Given the description of an element on the screen output the (x, y) to click on. 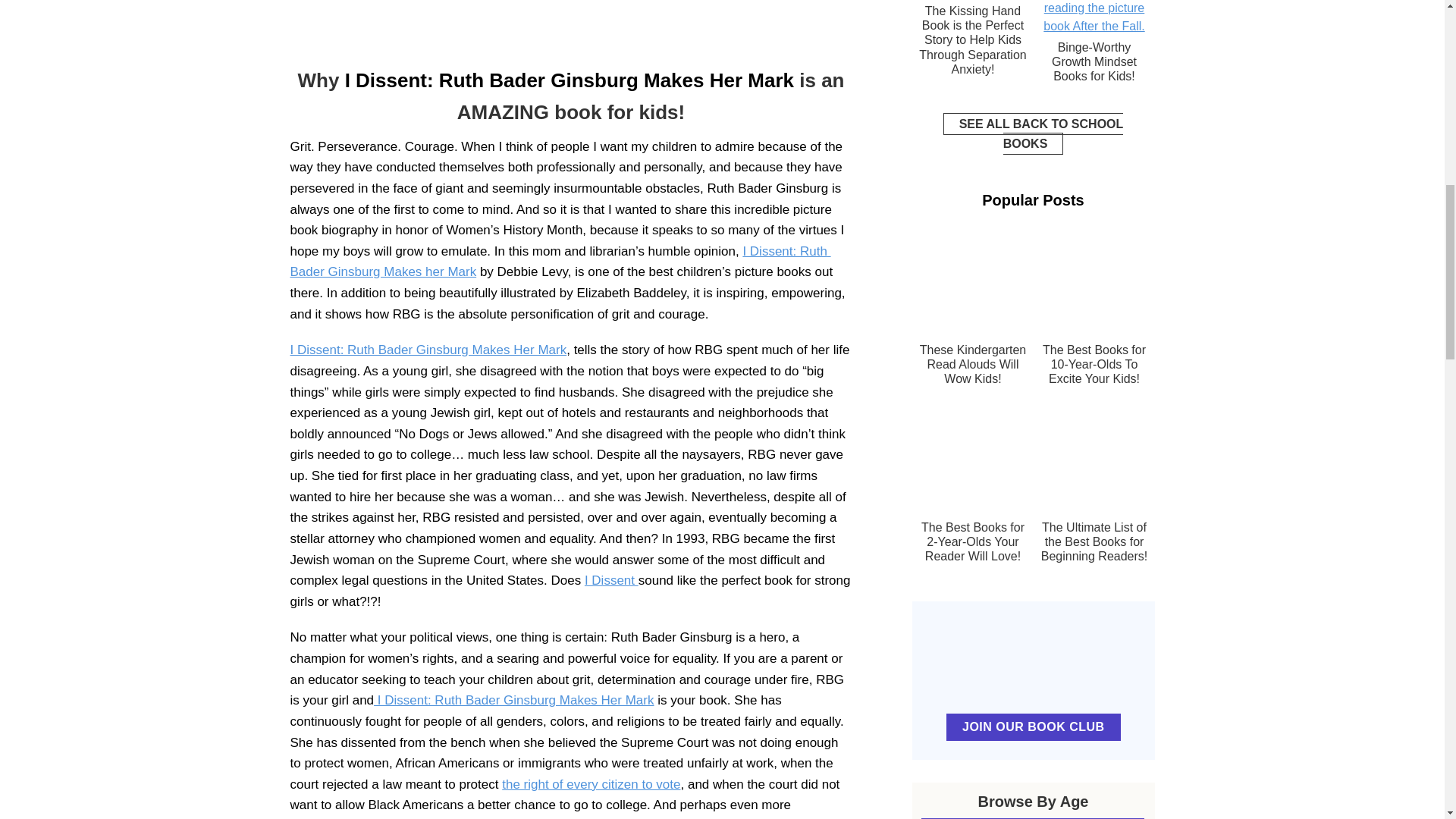
Back to School (1033, 133)
the right of every citizen to vote (590, 784)
I Dissent  (612, 580)
I Dissent: Ruth Bader Ginsburg Makes Her Mark (569, 79)
 I Dissent: Ruth Bader Ginsburg Makes Her Mark (513, 699)
I Dissent: Ruth Bader Ginsburg Makes Her Mark (427, 350)
I Dissent: Ruth Bader Ginsburg Makes her Mark (559, 262)
